Given the description of an element on the screen output the (x, y) to click on. 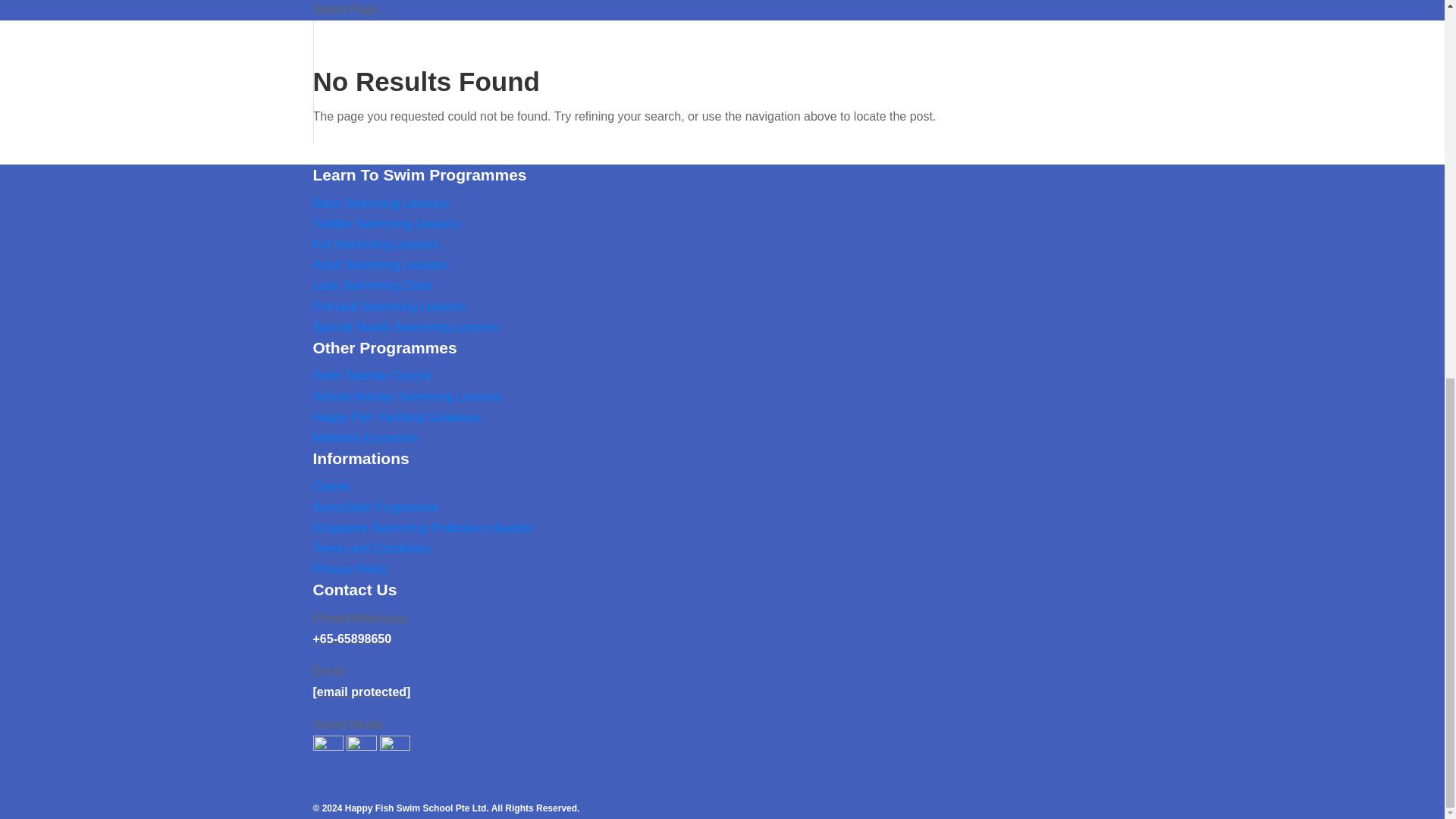
Kid Swimming Lessons (375, 244)
Lady Swimming Class (371, 285)
Baby Swimming Lessons (380, 203)
Toddler Swimming Lessons (386, 223)
Adult Swimming Lessons (380, 264)
Prenatal Swimming Lessons (389, 306)
